Given the description of an element on the screen output the (x, y) to click on. 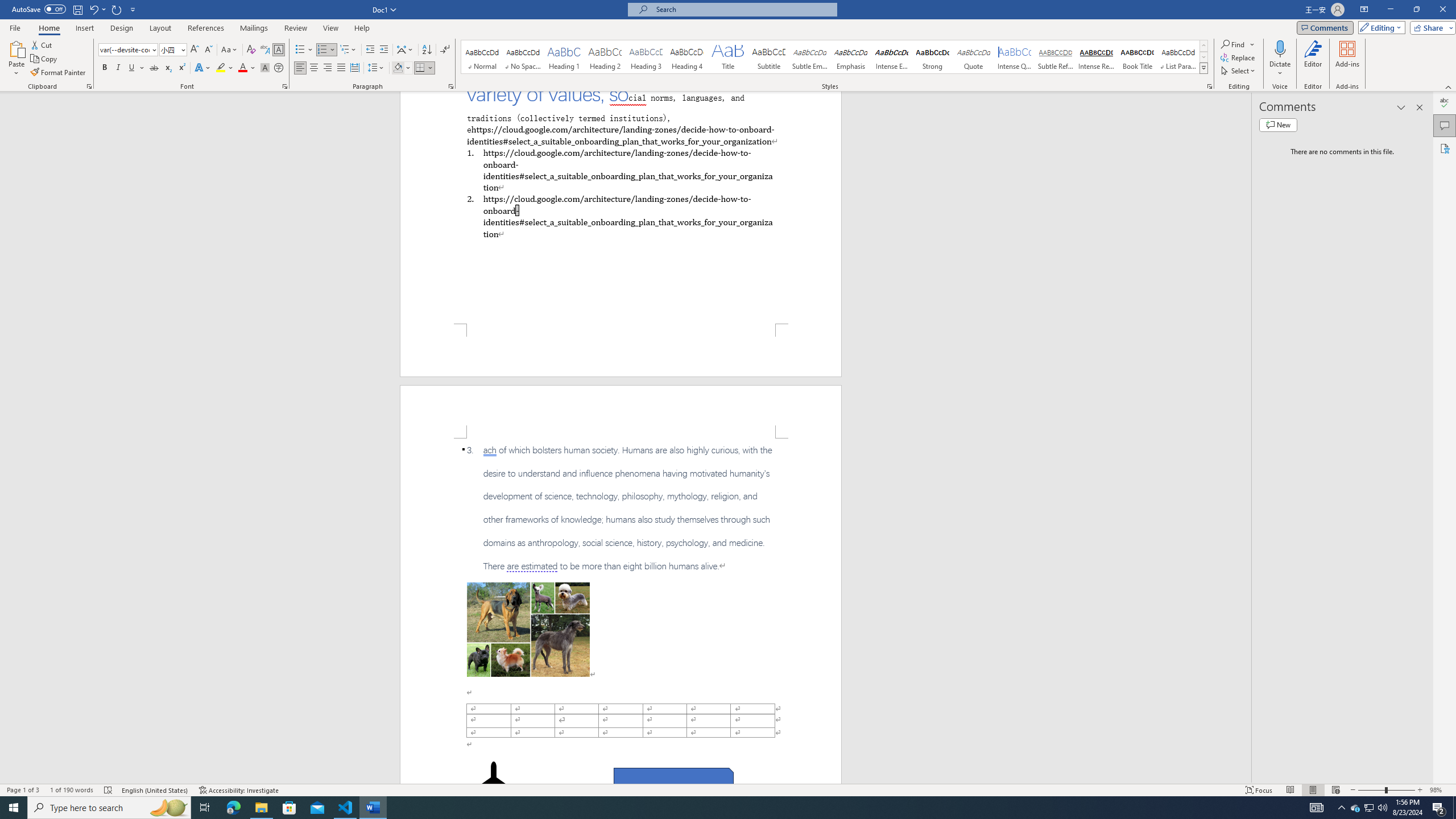
Change Case (229, 49)
Character Shading (264, 67)
Shrink Font (208, 49)
New comment (1278, 124)
Morphological variation in six dogs (528, 629)
Clear Formatting (250, 49)
Undo Border Bottom (96, 9)
Editor (1312, 58)
Page 2 content (620, 610)
Asian Layout (405, 49)
Quote (973, 56)
